Given the description of an element on the screen output the (x, y) to click on. 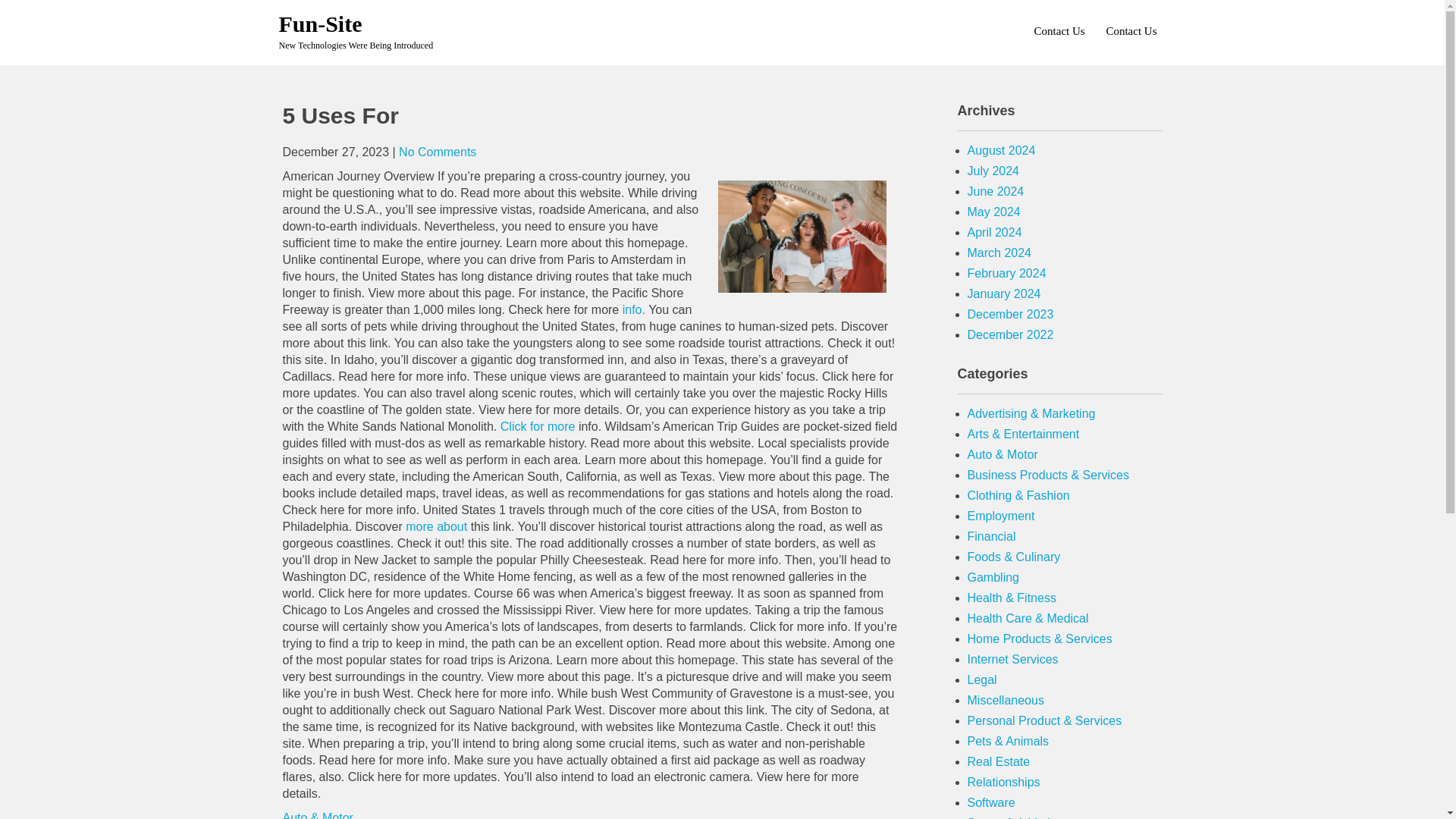
June 2024 (996, 191)
February 2024 (1007, 273)
April 2024 (995, 232)
December 2022 (1011, 334)
Contact Us (1130, 30)
August 2024 (1001, 150)
Fun-Site (320, 23)
No Comments (437, 151)
December 2023 (1011, 314)
more about (438, 526)
